Given the description of an element on the screen output the (x, y) to click on. 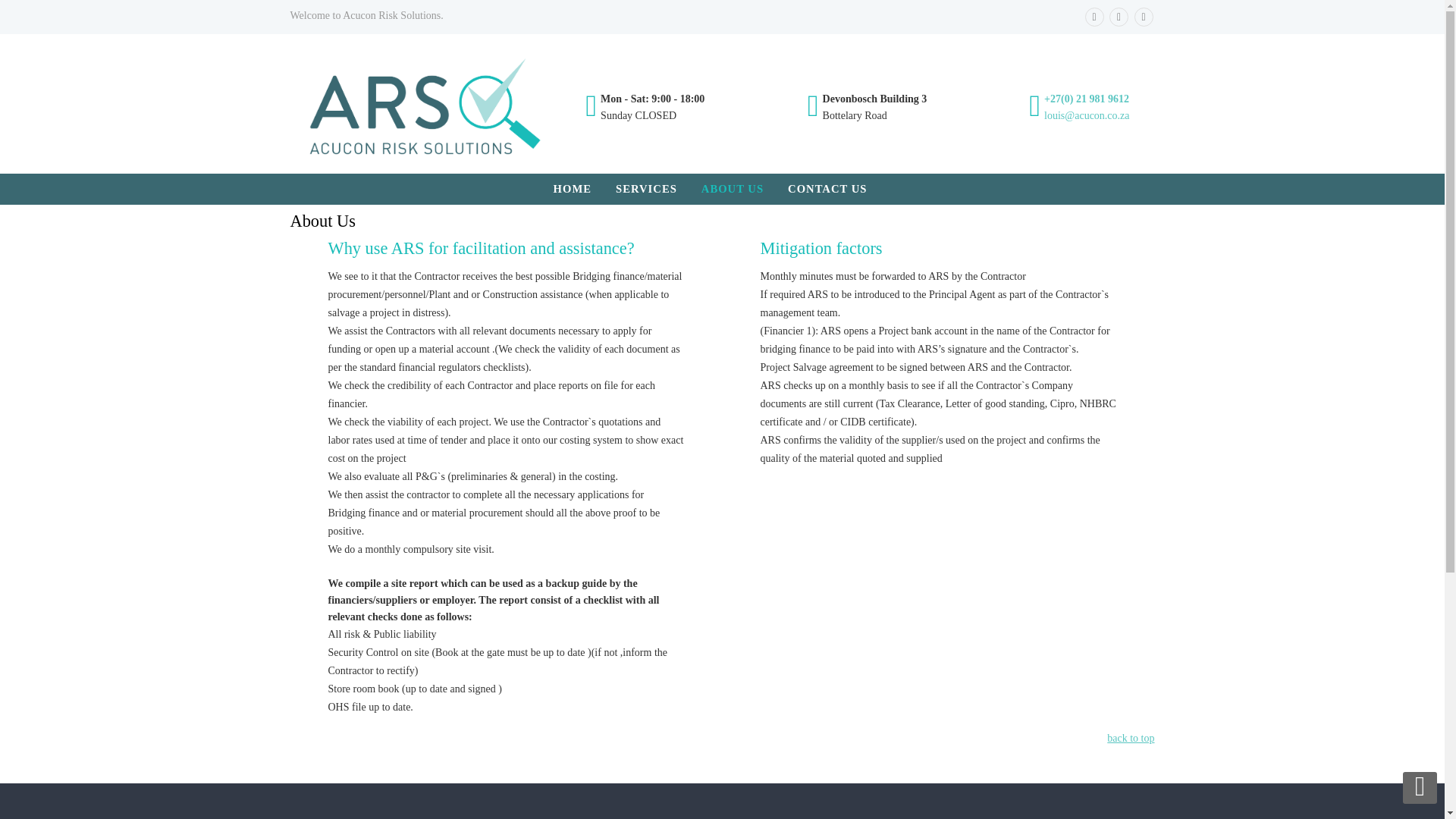
HOME (584, 187)
acurisk (425, 106)
CONTACT US (839, 187)
back to top (1130, 737)
ABOUT US (744, 187)
SERVICES (658, 187)
